Given the description of an element on the screen output the (x, y) to click on. 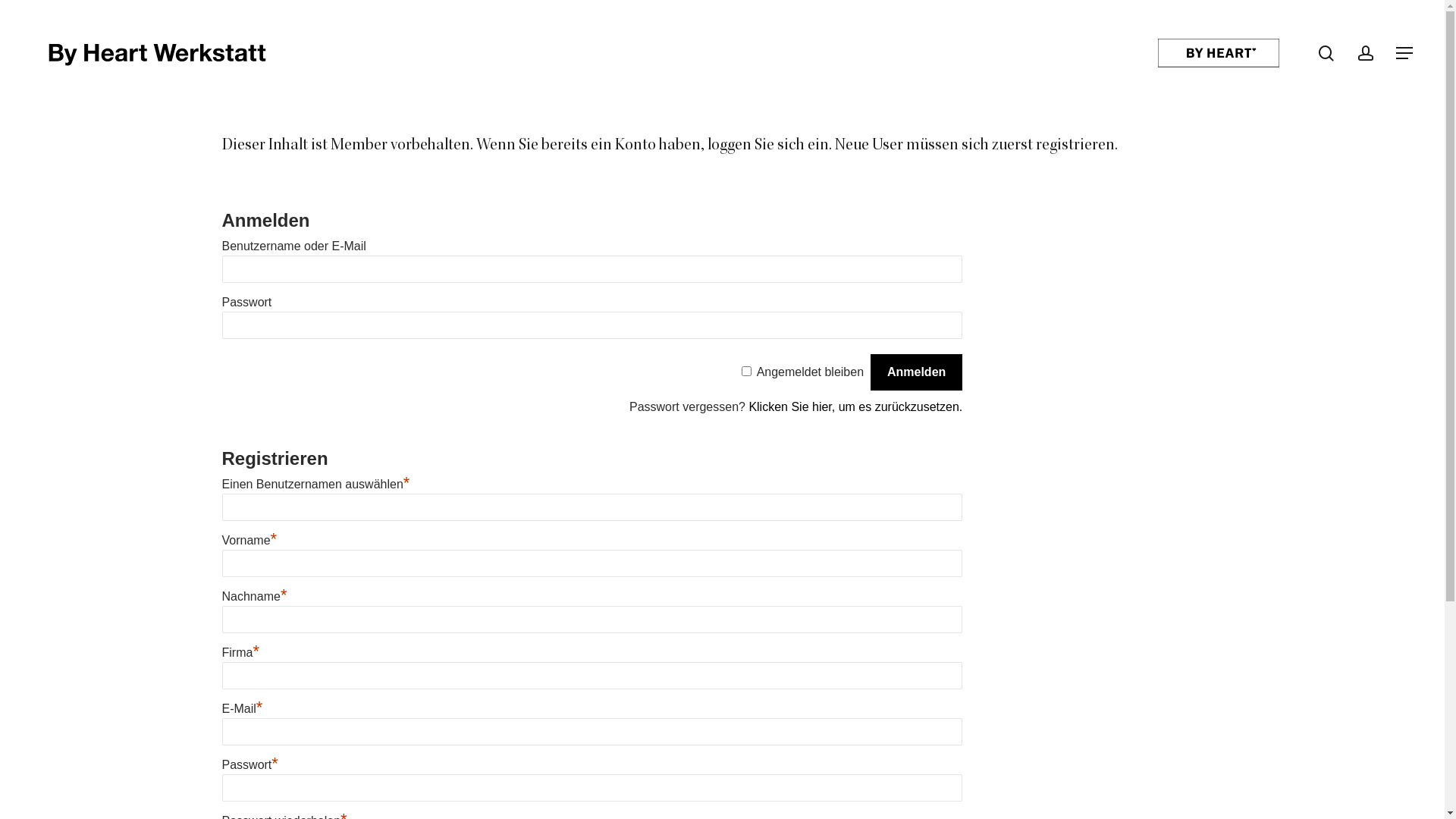
Anmelden Element type: text (916, 372)
account Element type: text (1365, 53)
Menu Element type: text (1405, 53)
search Element type: text (1326, 53)
